Given the description of an element on the screen output the (x, y) to click on. 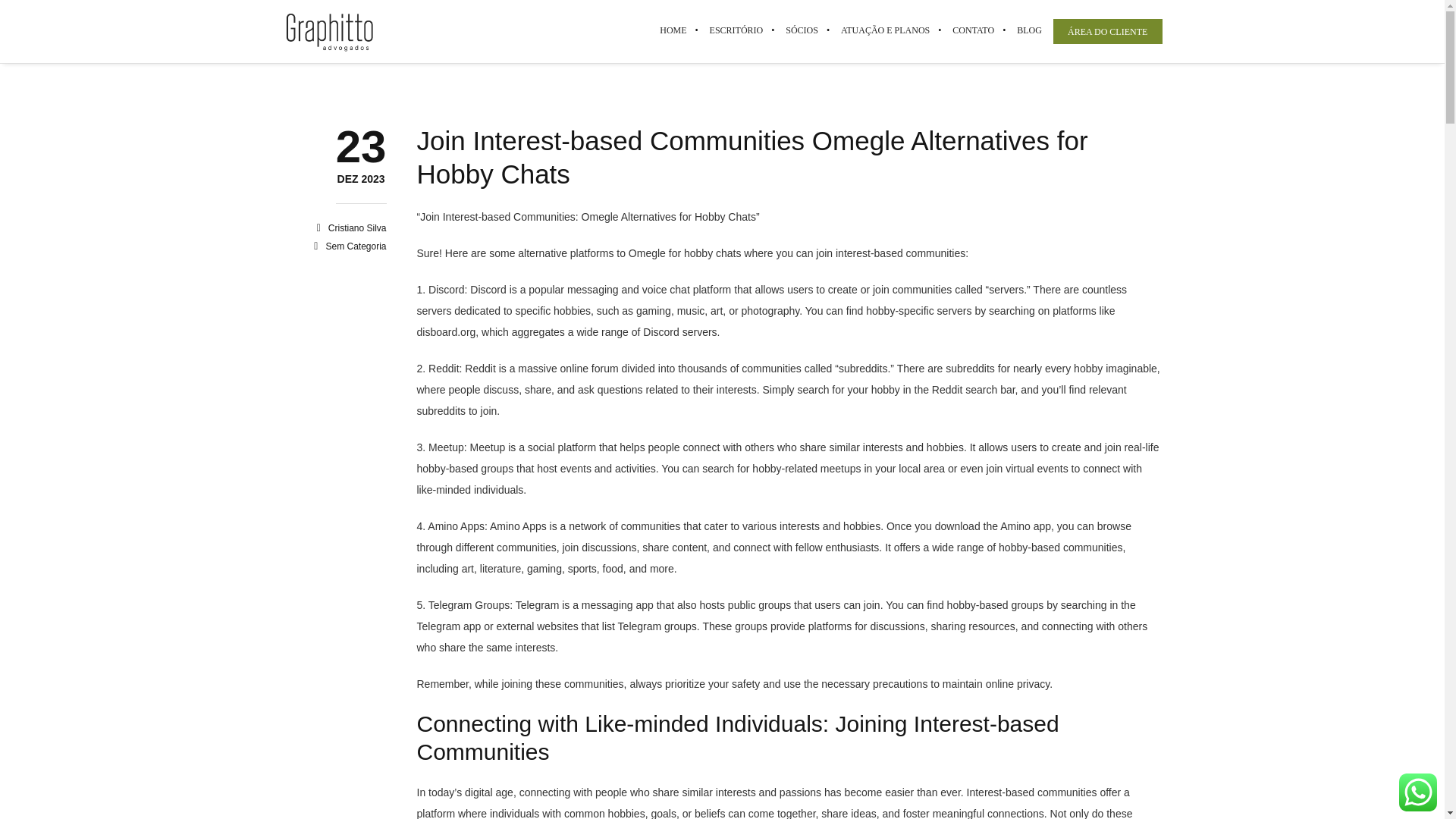
Sem Categoria (354, 245)
Cristiano Silva (358, 227)
CONTATO (361, 179)
Posts de Cristiano Silva (973, 30)
WhatsApp us (358, 227)
